Given the description of an element on the screen output the (x, y) to click on. 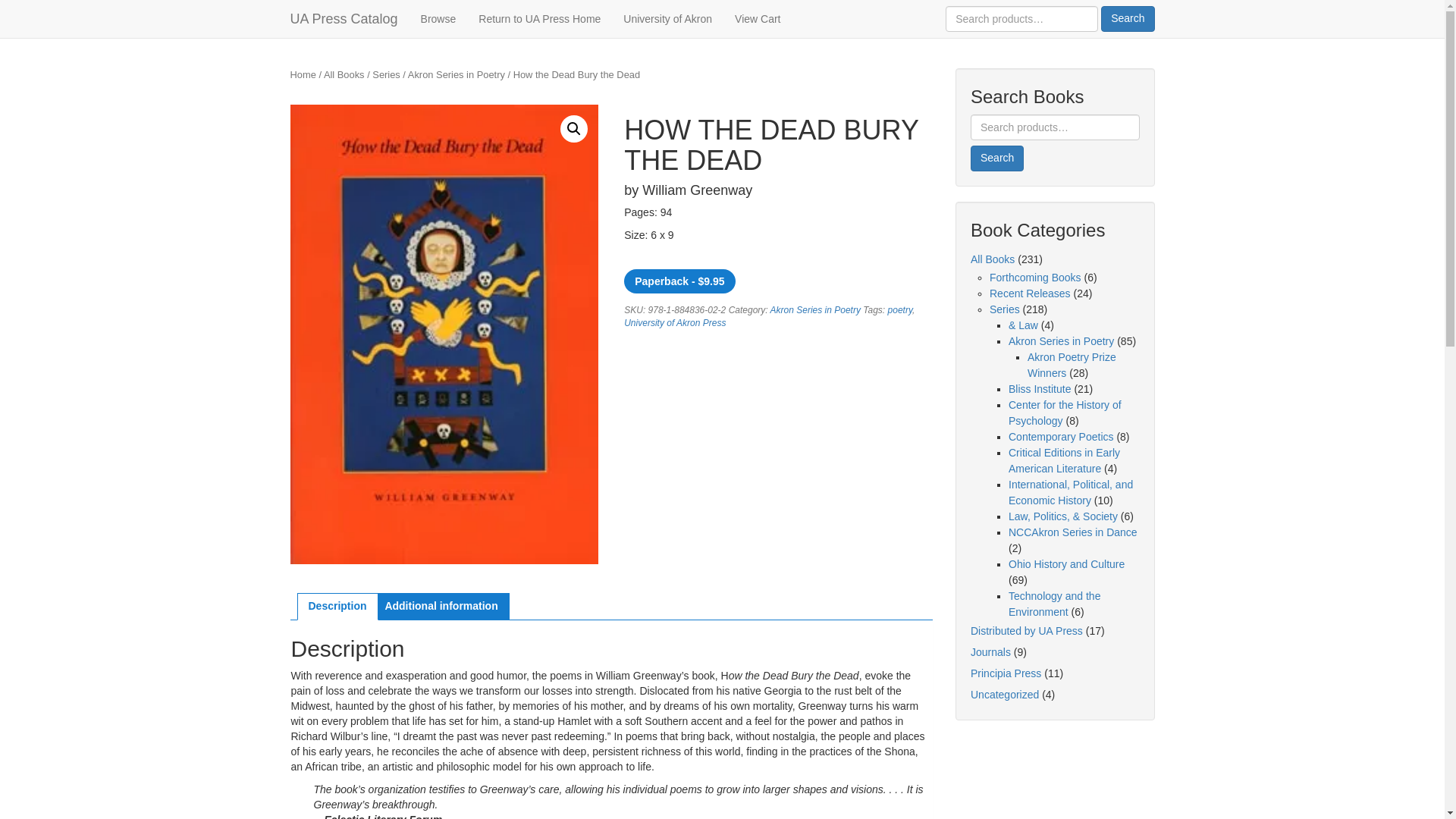
View Cart (757, 18)
Akron Series in Poetry (815, 309)
UA Press Catalog (344, 18)
Browse (438, 18)
University of Akron (667, 18)
View Cart (757, 18)
Home (302, 74)
Browse (438, 18)
Return to UA Press Home (539, 18)
University of Akron (667, 18)
Return to UA Press Home (539, 18)
Additional information (440, 606)
poetry (900, 309)
